Given the description of an element on the screen output the (x, y) to click on. 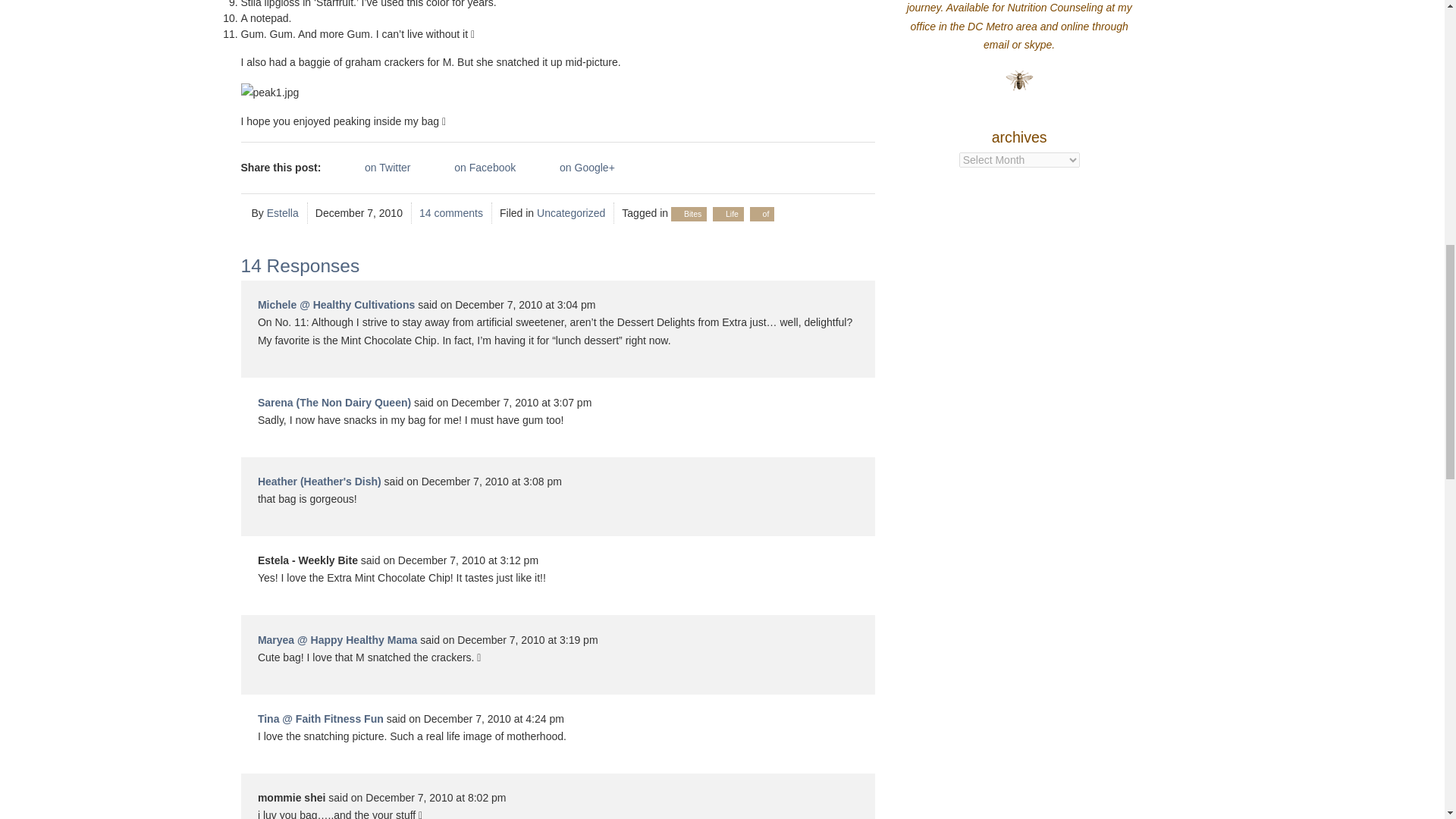
14 comments (451, 213)
on Twitter (371, 167)
Uncategorized (571, 213)
Bites (692, 213)
on Facebook (468, 167)
Estella (282, 213)
Life (731, 213)
Posts by Estella (282, 213)
